Given the description of an element on the screen output the (x, y) to click on. 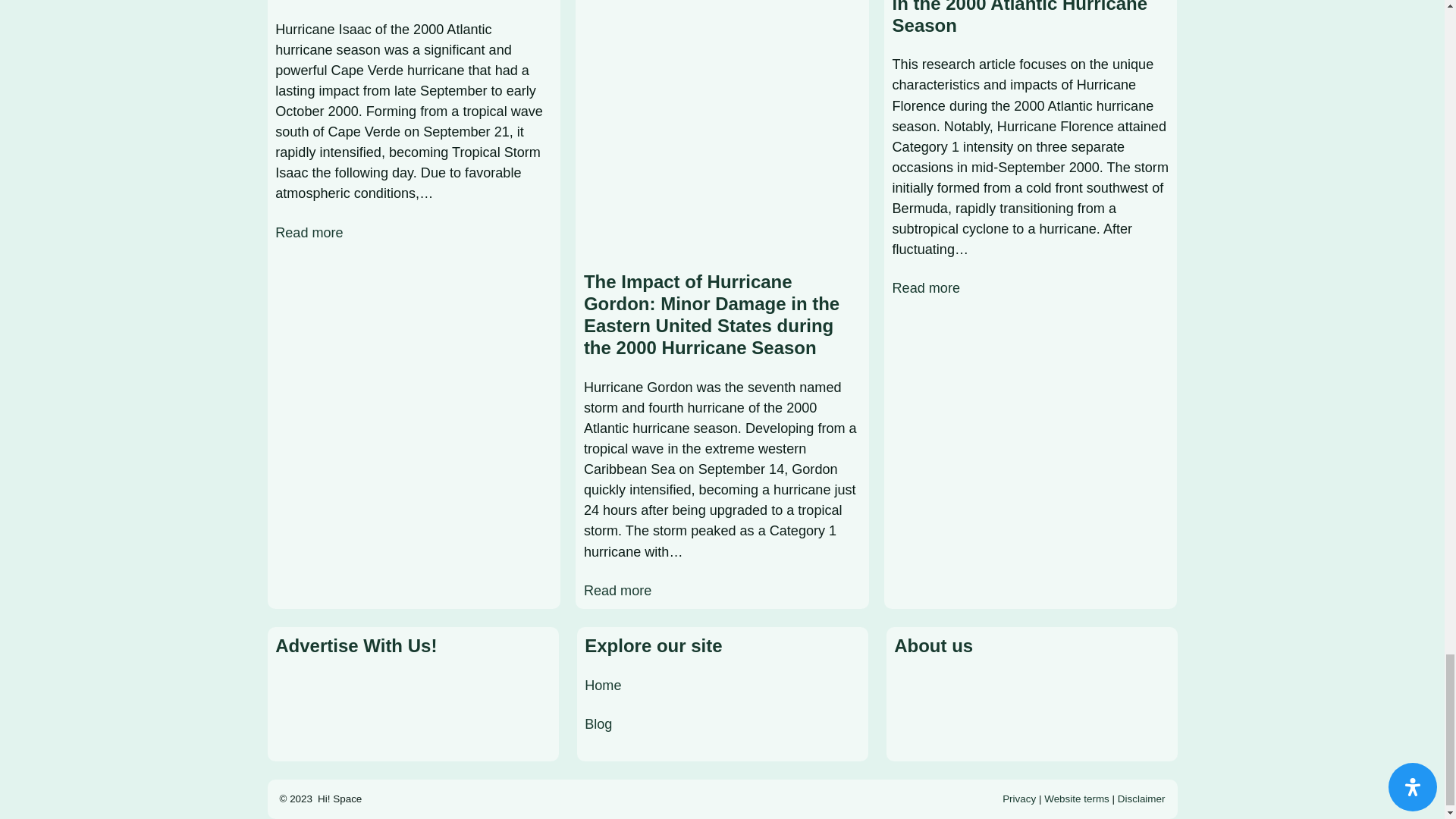
Website terms (1076, 798)
Read more (308, 232)
Blog (598, 724)
Read more (925, 288)
Read more (616, 590)
Privacy (1019, 798)
Hi! Space (339, 798)
Disclaimer (1142, 798)
Home (603, 685)
